Given the description of an element on the screen output the (x, y) to click on. 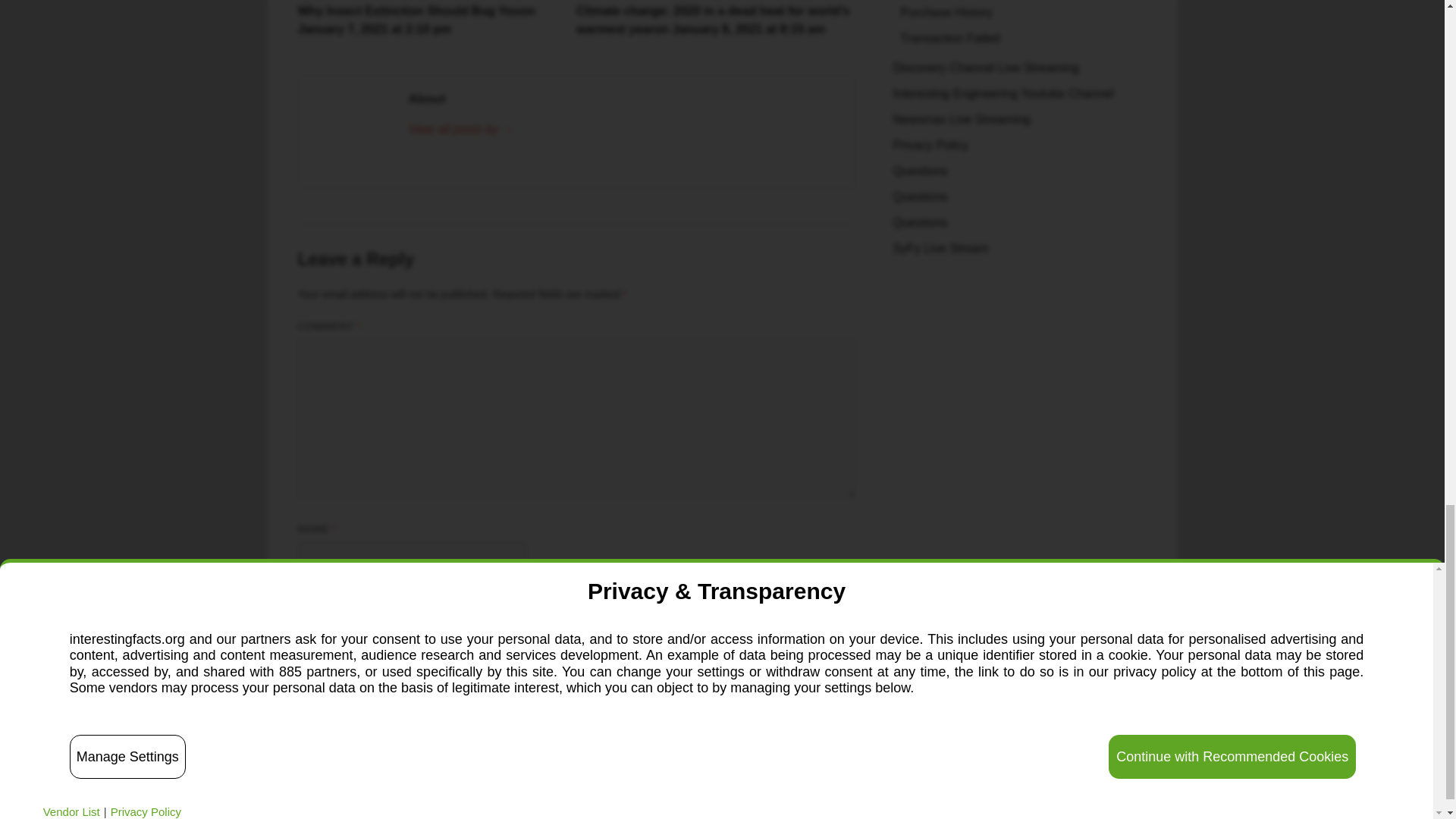
Post Comment (349, 736)
Post Comment (349, 736)
